Given the description of an element on the screen output the (x, y) to click on. 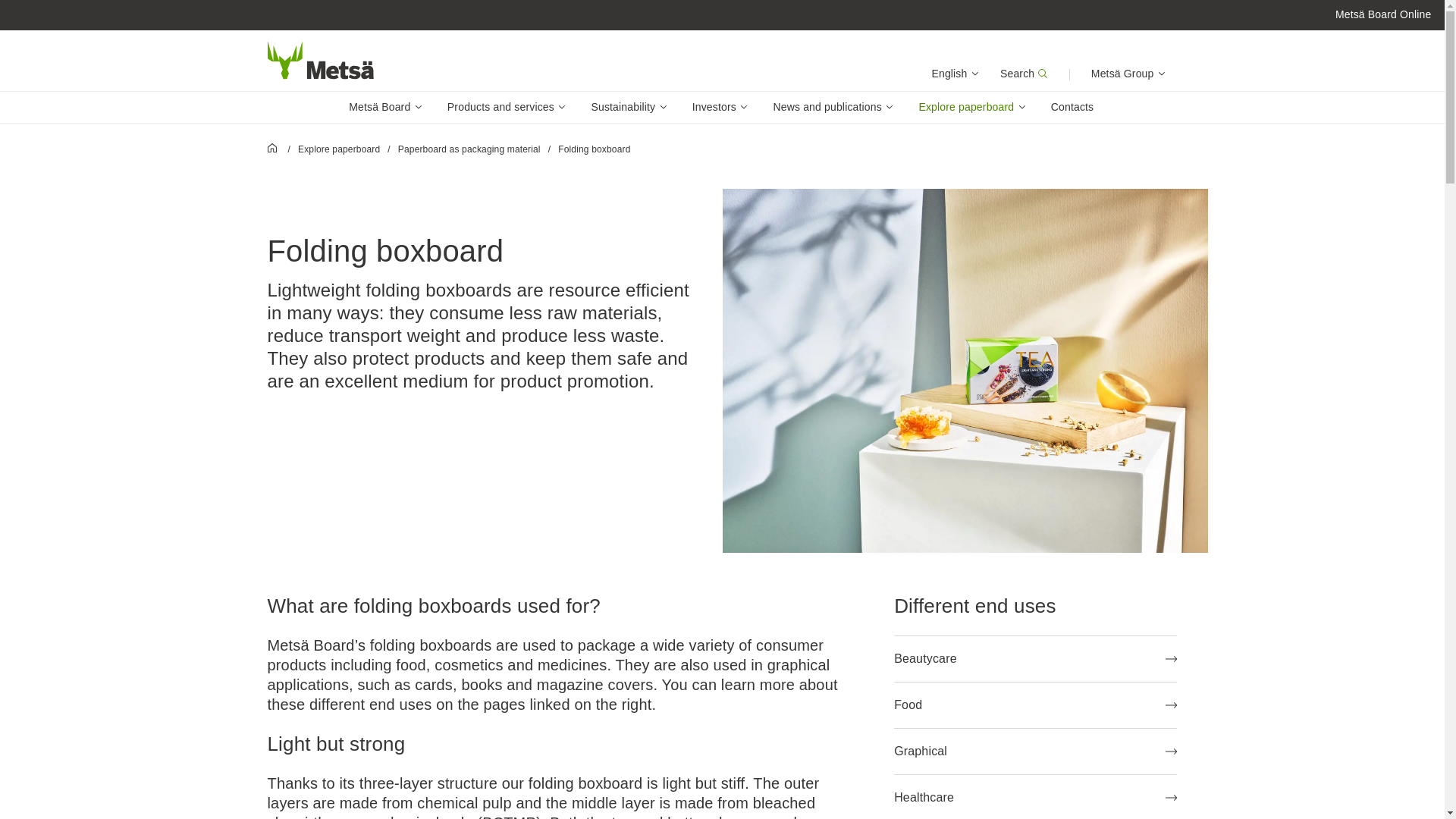
English (956, 73)
Search (1024, 73)
Products and services (507, 106)
